Given the description of an element on the screen output the (x, y) to click on. 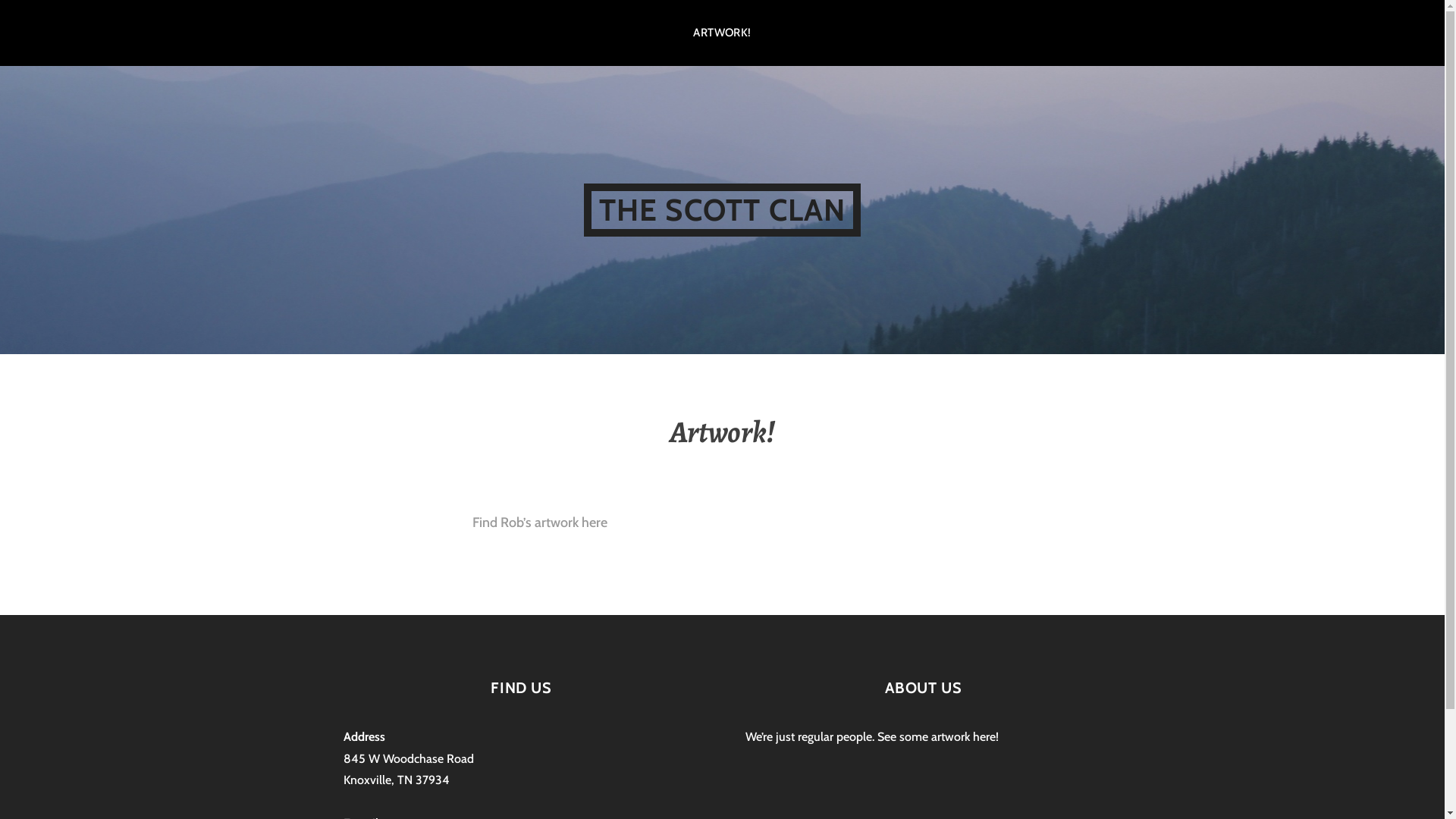
artwork here Element type: text (963, 736)
THE SCOTT CLAN Element type: text (722, 209)
ARTWORK! Element type: text (722, 32)
